Given the description of an element on the screen output the (x, y) to click on. 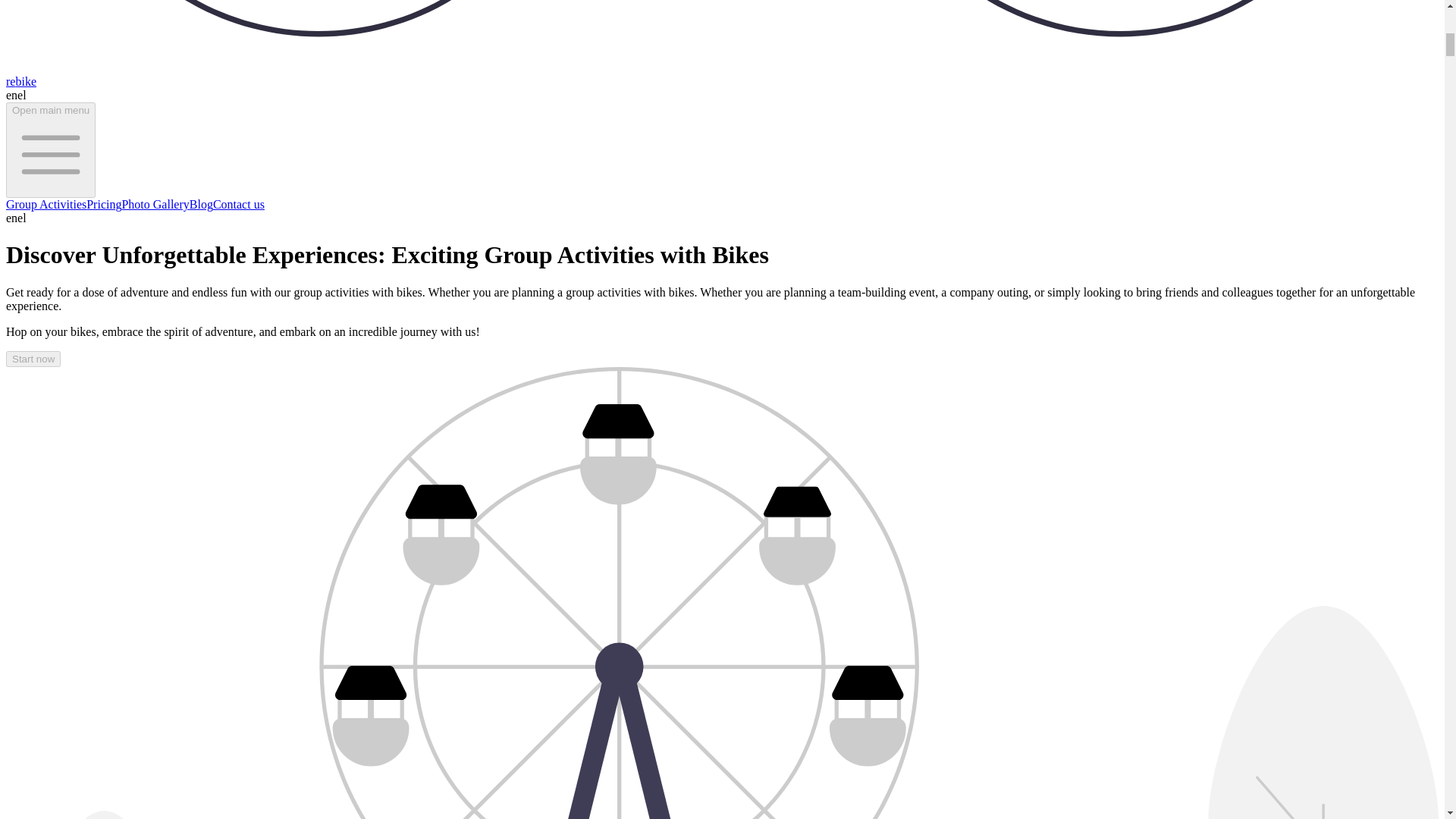
Group Activities (45, 204)
Contact us (238, 204)
Pricing (102, 204)
Open main menu (50, 150)
Photo Gallery (154, 204)
Blog (200, 204)
Start now (33, 358)
